Given the description of an element on the screen output the (x, y) to click on. 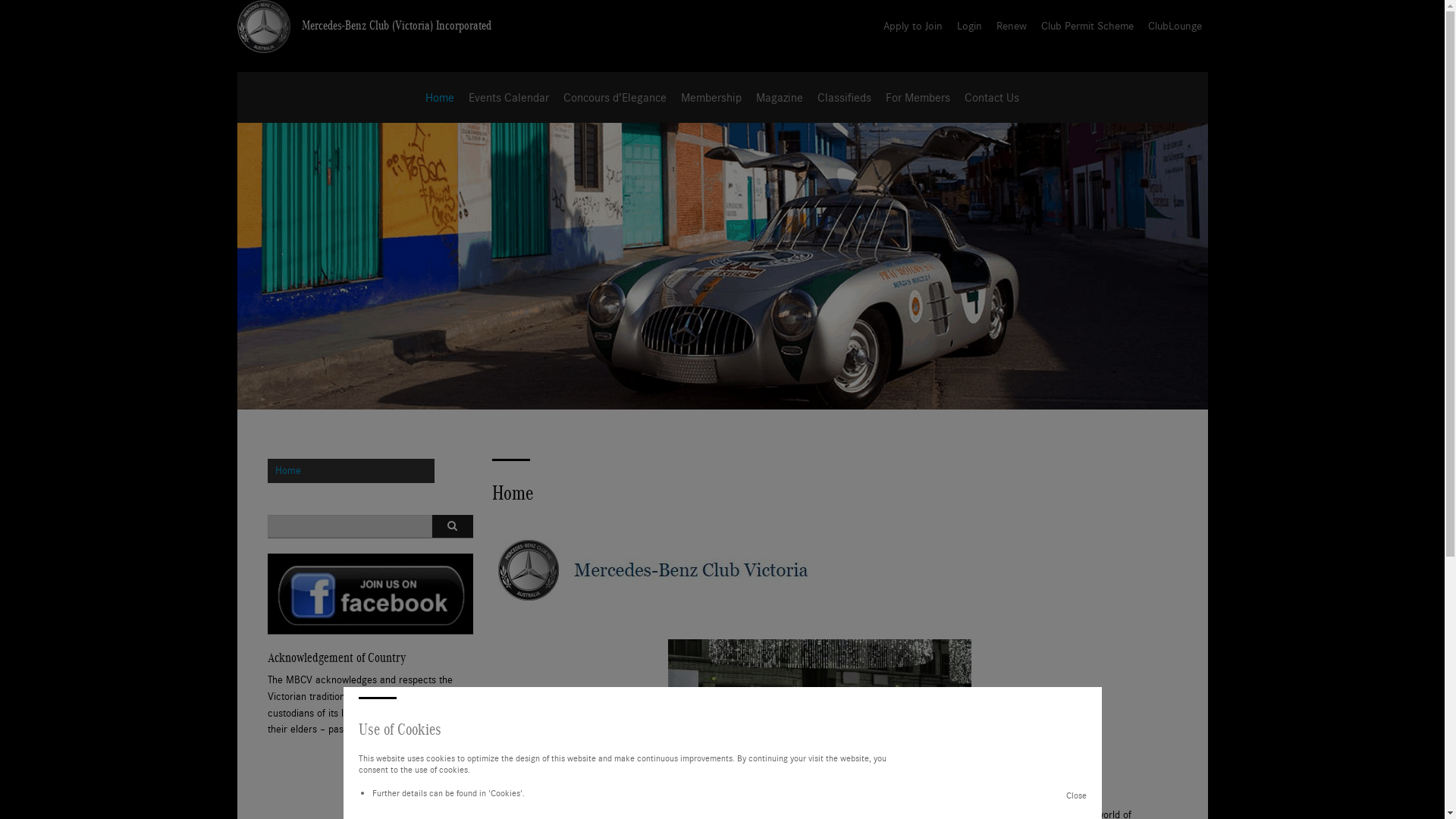
For Members Element type: text (917, 97)
Home Element type: text (438, 97)
Club Permit Scheme Element type: text (1086, 25)
Contact Us Element type: text (991, 97)
Classifieds Element type: text (844, 97)
Close Element type: text (1076, 795)
Events Calendar Element type: text (508, 97)
Mercedes-Benz Club (Victoria) Incorporated Element type: text (396, 25)
Membership Element type: text (710, 97)
Apply to Join Element type: text (911, 25)
Home Element type: text (349, 470)
Login Element type: text (969, 25)
Renew Element type: text (1011, 25)
Magazine Element type: text (778, 97)
ClubLounge Element type: text (1174, 25)
